Given the description of an element on the screen output the (x, y) to click on. 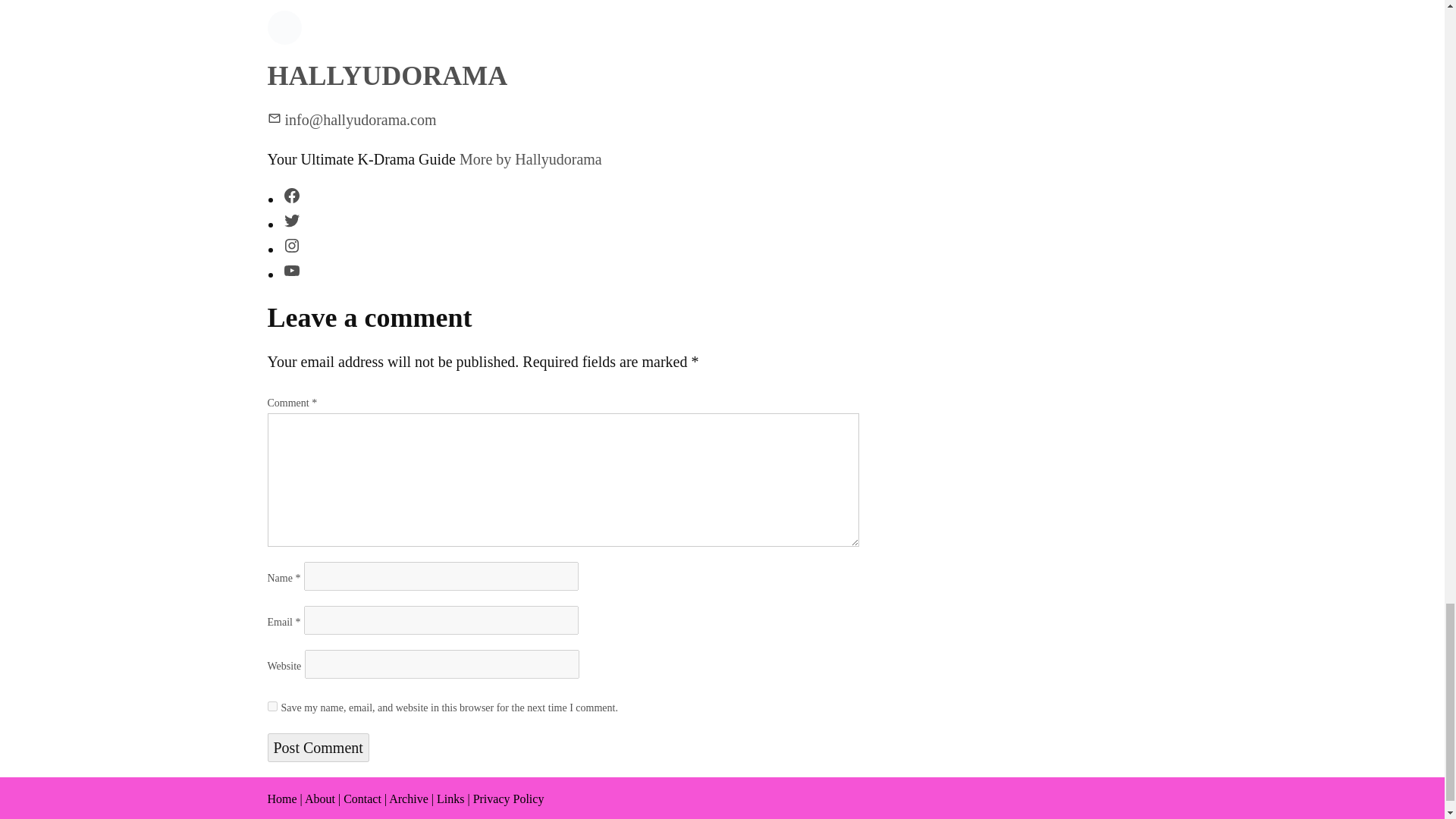
youtube (290, 270)
instagram (290, 245)
facebook (290, 195)
Post Comment (317, 747)
yes (271, 706)
twitter (290, 220)
